Given the description of an element on the screen output the (x, y) to click on. 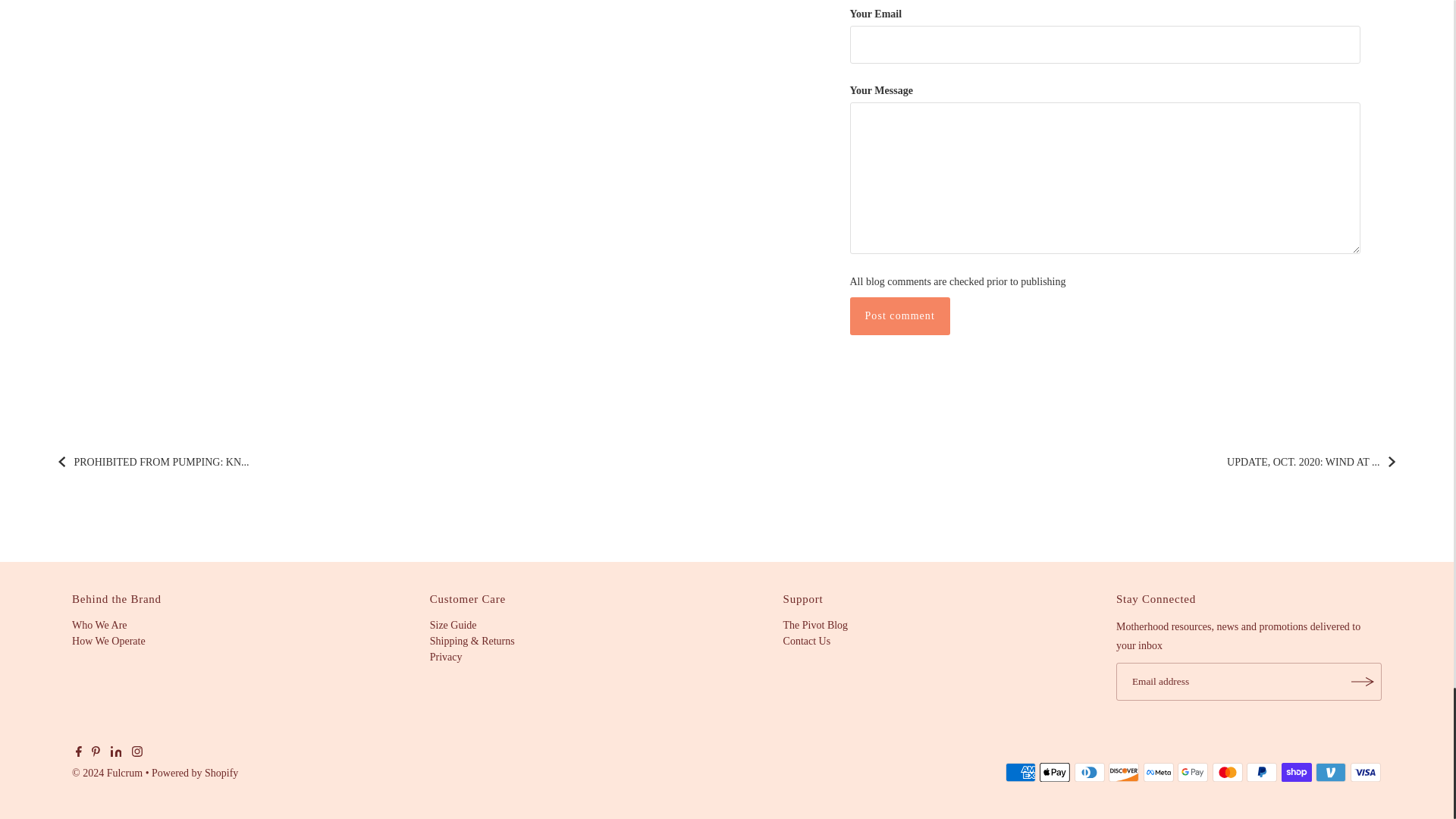
American Express (1020, 772)
Diners Club (1089, 772)
Google Pay (1192, 772)
Apple Pay (1054, 772)
Discover (1123, 772)
Post comment (898, 315)
Meta Pay (1157, 772)
